Given the description of an element on the screen output the (x, y) to click on. 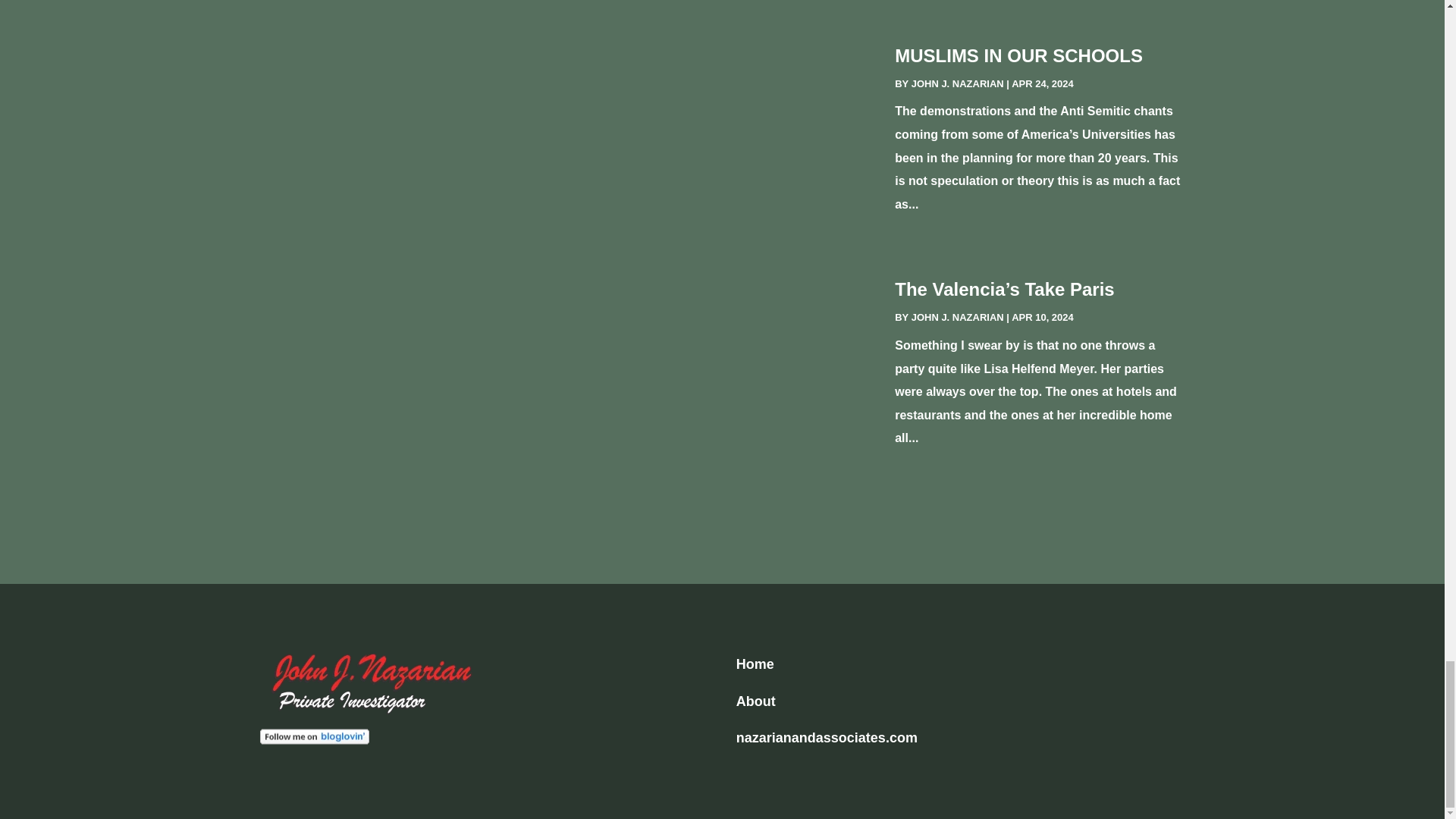
Posts by John J. Nazarian (957, 317)
JOHN J. NAZARIAN (957, 83)
JOHN J. NAZARIAN (957, 317)
MUSLIMS IN OUR SCHOOLS (1018, 55)
nazarianandassociates.com (826, 737)
About (756, 701)
Posts by John J. Nazarian (957, 83)
Home (755, 663)
